Given the description of an element on the screen output the (x, y) to click on. 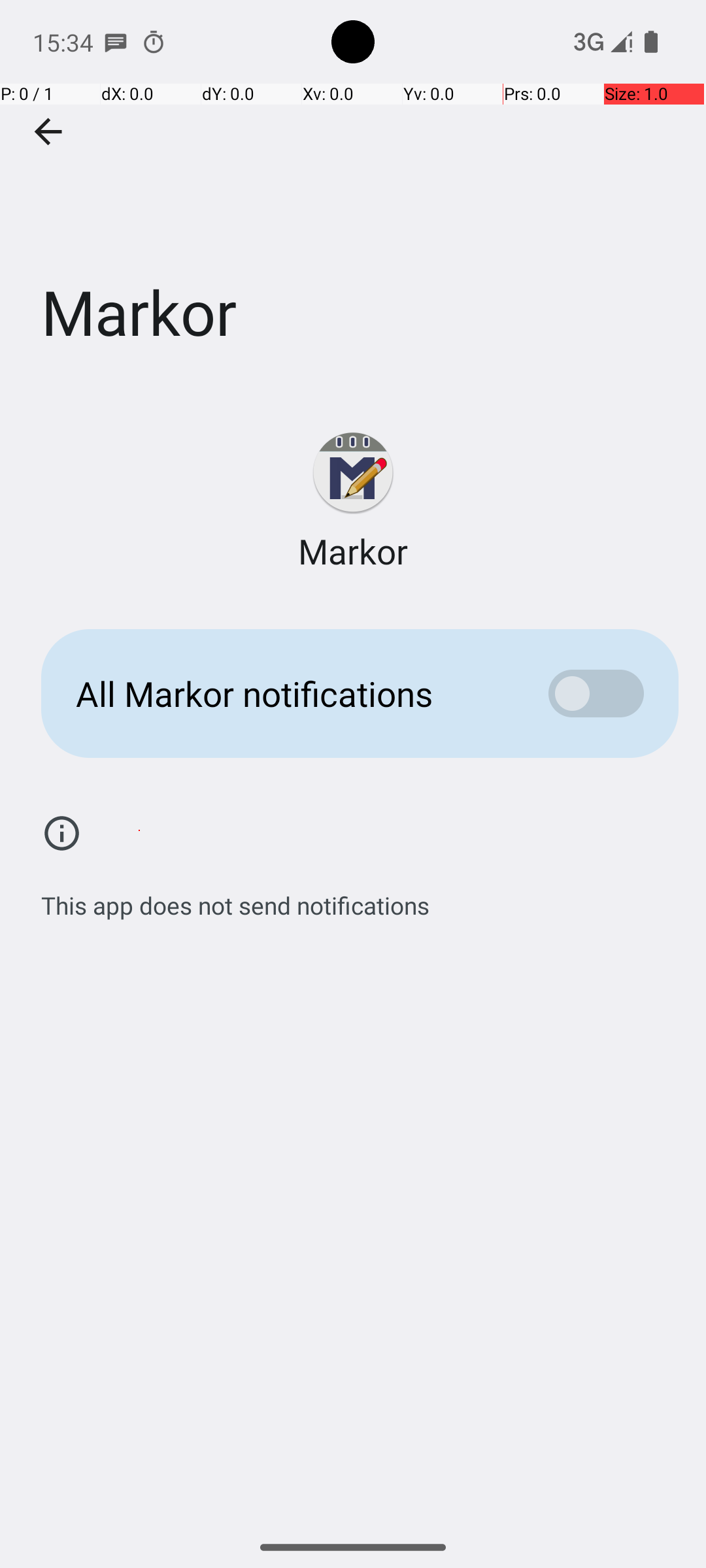
All Markor notifications Element type: android.widget.TextView (291, 693)
This app does not send notifications Element type: android.widget.TextView (235, 898)
